Given the description of an element on the screen output the (x, y) to click on. 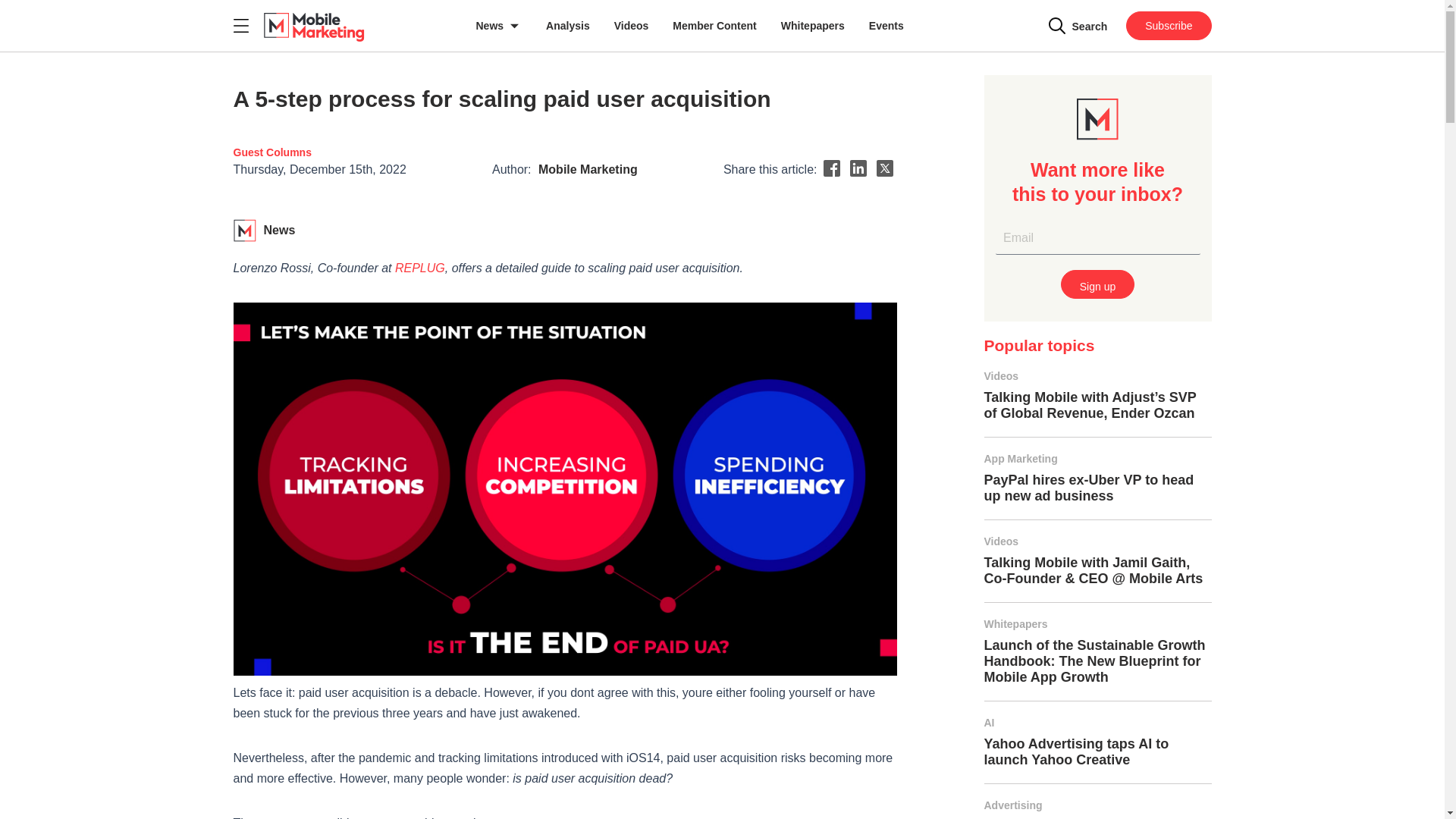
Sign up (1097, 284)
News (499, 25)
